Given the description of an element on the screen output the (x, y) to click on. 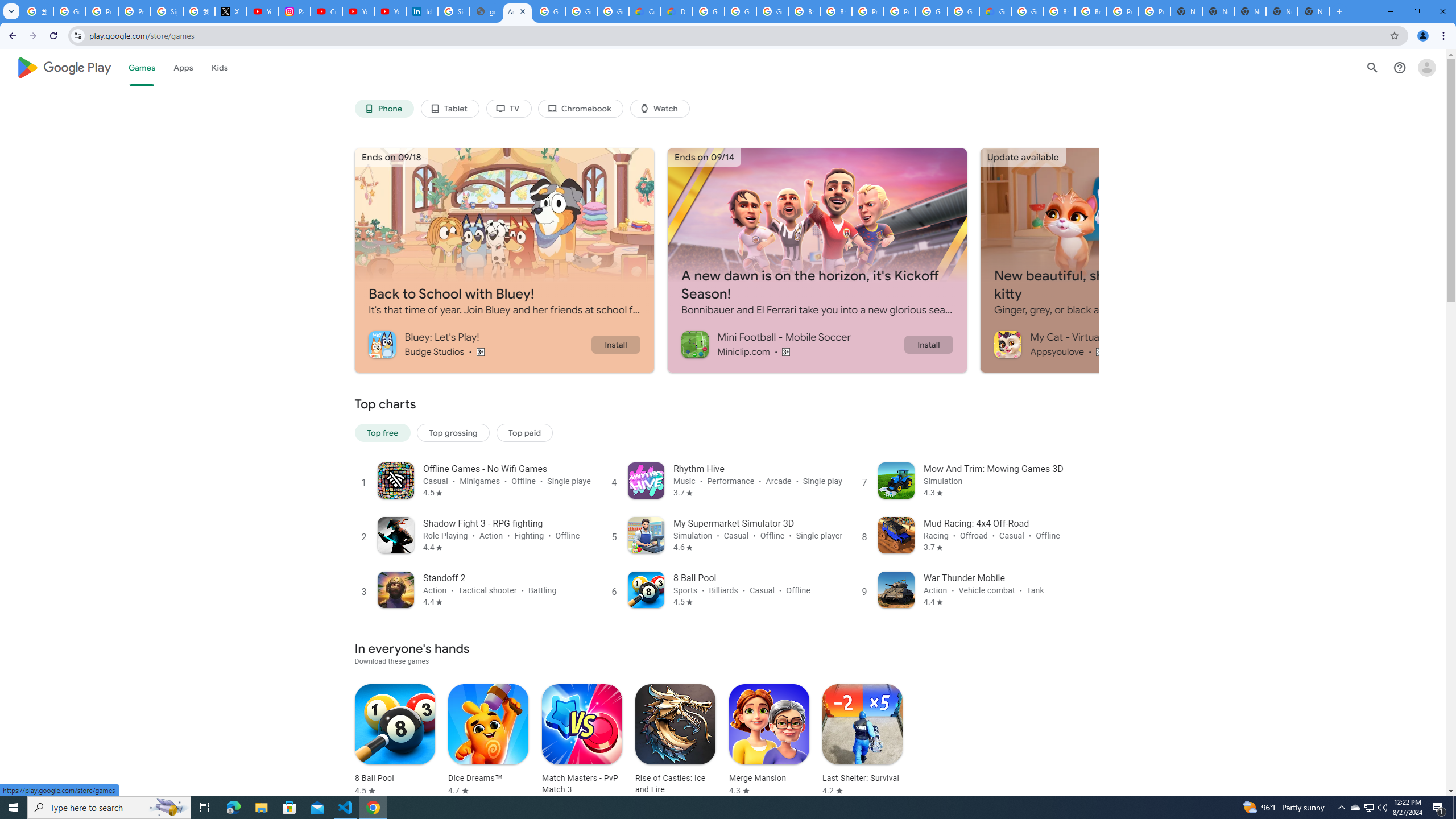
Merge Mansion Rated 4.3 stars out of five stars (768, 739)
Top paid (524, 432)
Browse Chrome as a guest - Computer - Google Chrome Help (804, 11)
Tablet (449, 108)
Android Apps on Google Play (517, 11)
